Given the description of an element on the screen output the (x, y) to click on. 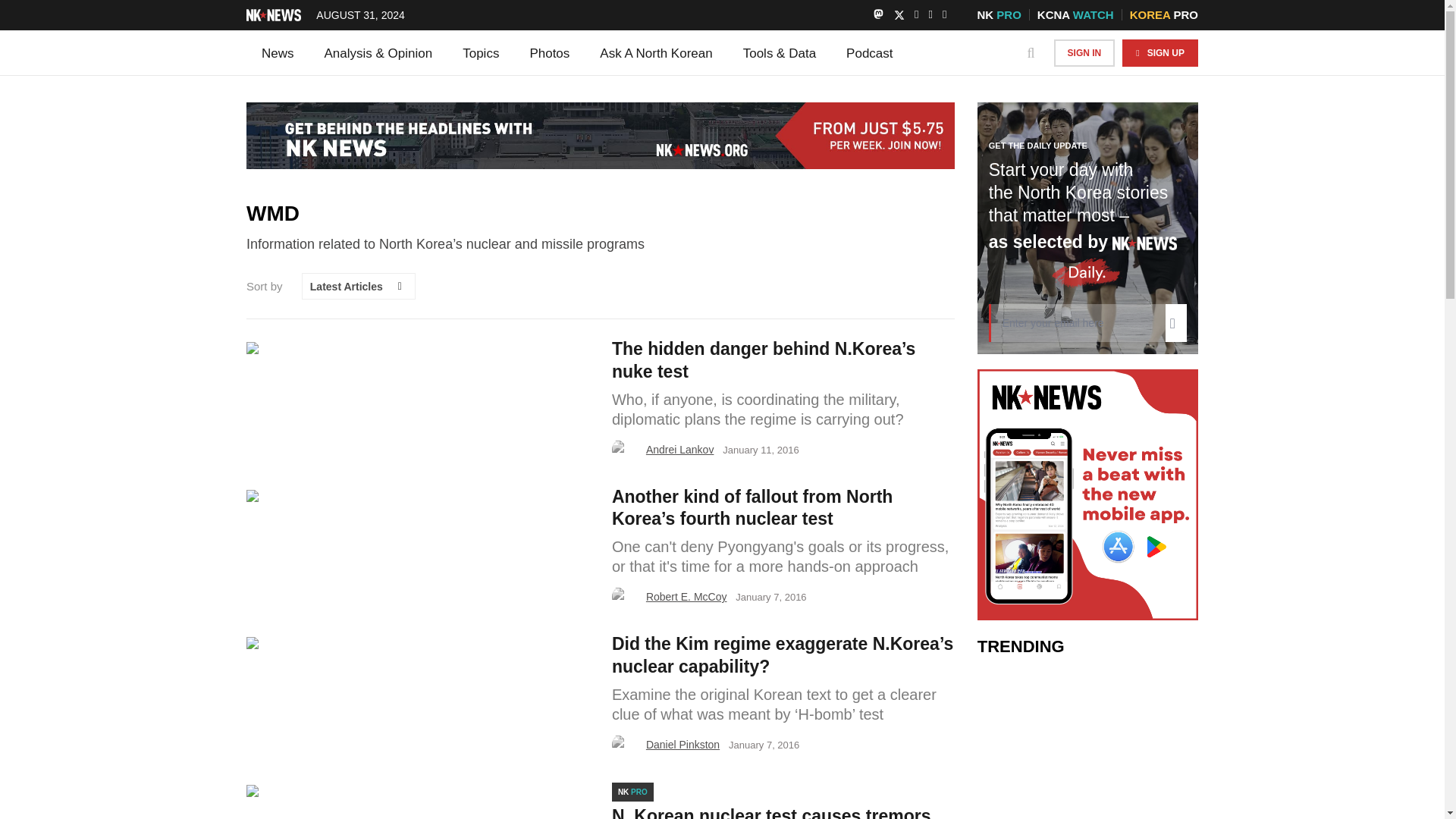
KOREA PRO (1163, 14)
NK PRO (998, 14)
KCNA WATCH (1074, 14)
